Given the description of an element on the screen output the (x, y) to click on. 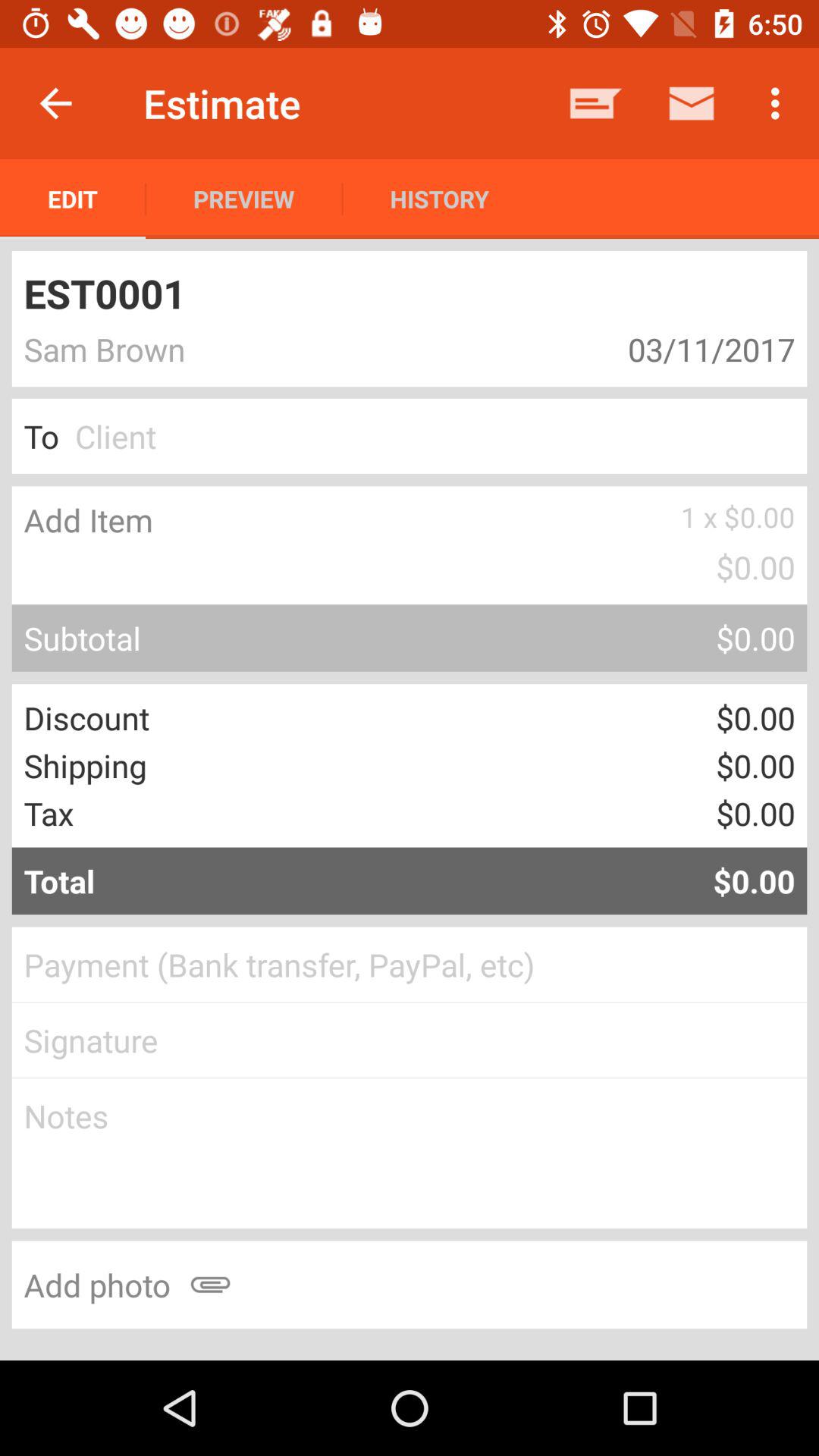
turn on icon next to preview icon (72, 198)
